Given the description of an element on the screen output the (x, y) to click on. 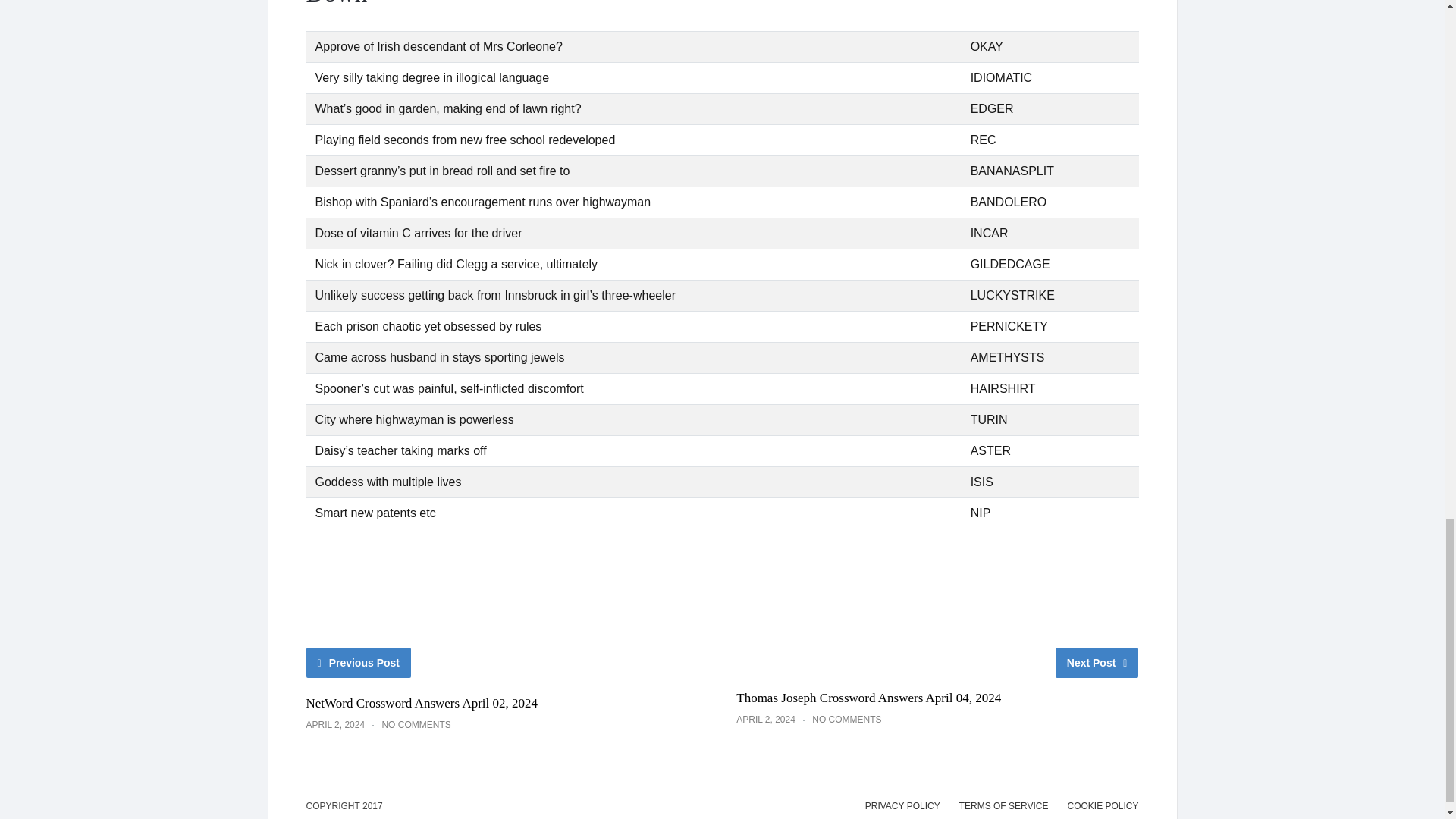
Thomas Joseph Crossword Answers April 04, 2024 (868, 698)
NO COMMENTS (846, 719)
COOKIE POLICY (1102, 805)
NetWord Crossword Answers April 02, 2024 (421, 703)
PRIVACY POLICY (902, 805)
Next Post (1096, 662)
TERMS OF SERVICE (1003, 805)
Previous Post (358, 662)
NO COMMENTS (415, 724)
